Given the description of an element on the screen output the (x, y) to click on. 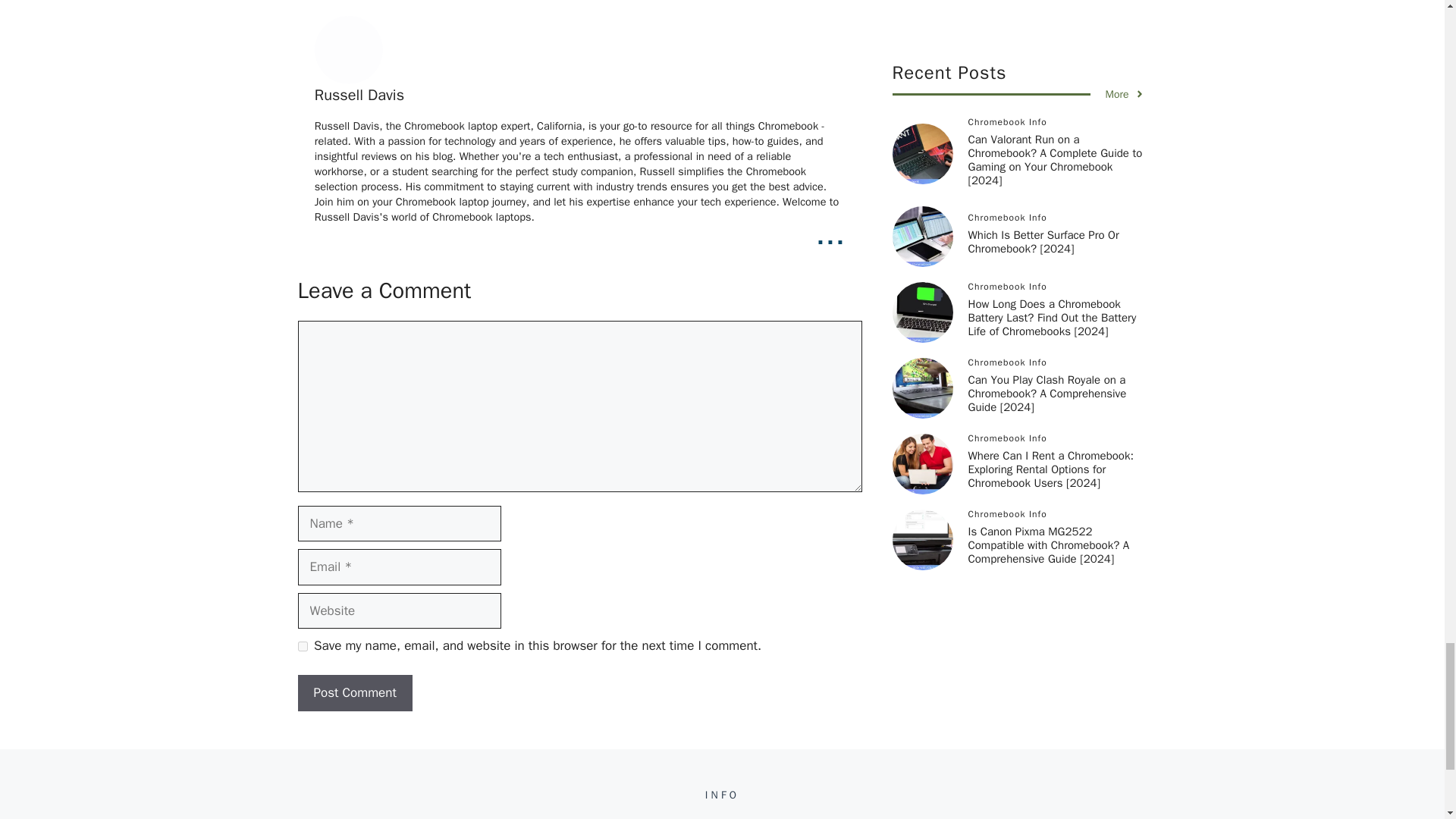
Post Comment (354, 692)
Post Comment (354, 692)
... (829, 233)
yes (302, 646)
Read more (829, 233)
